Given the description of an element on the screen output the (x, y) to click on. 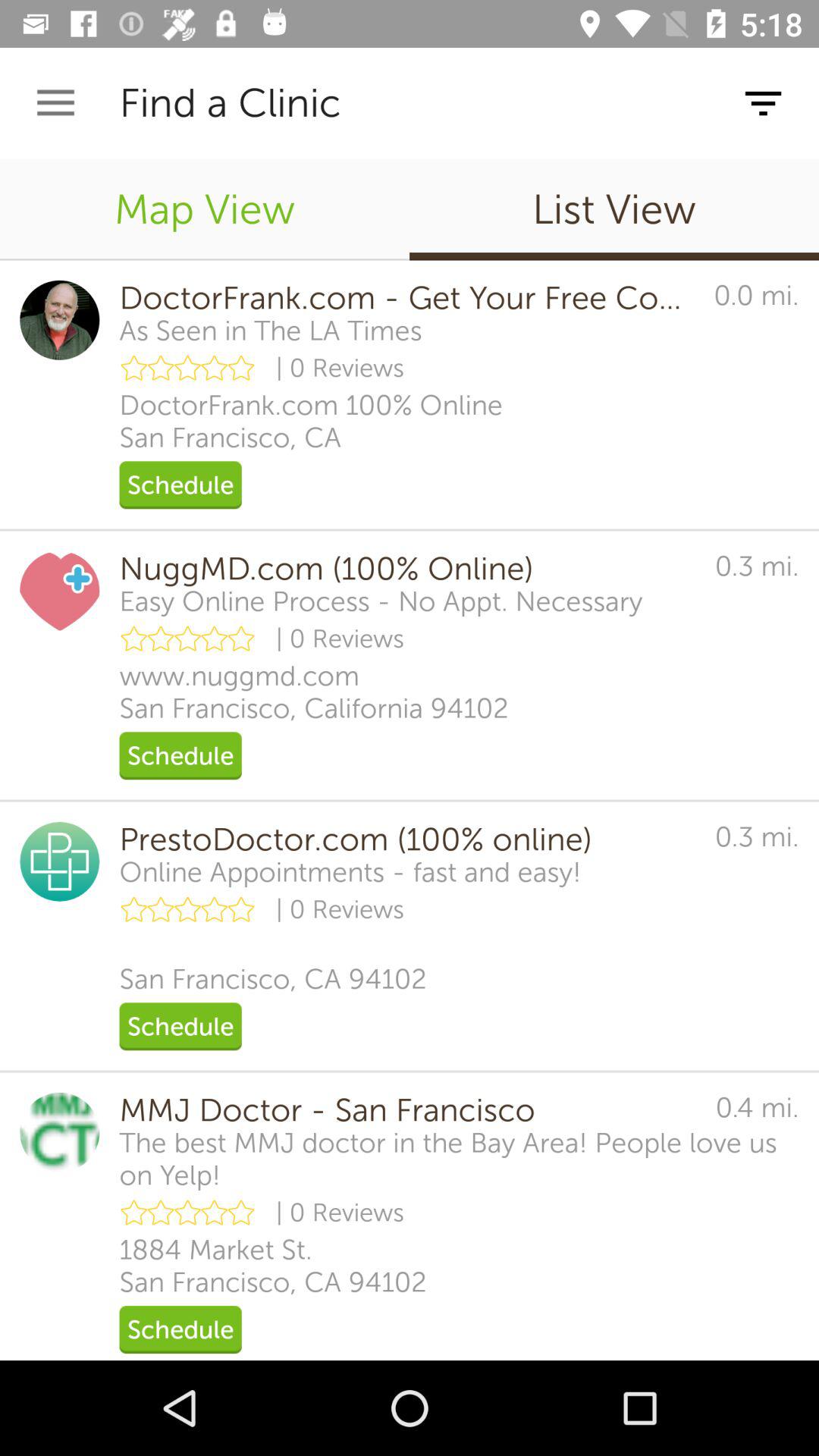
scroll until the 1884 market st (272, 1265)
